Given the description of an element on the screen output the (x, y) to click on. 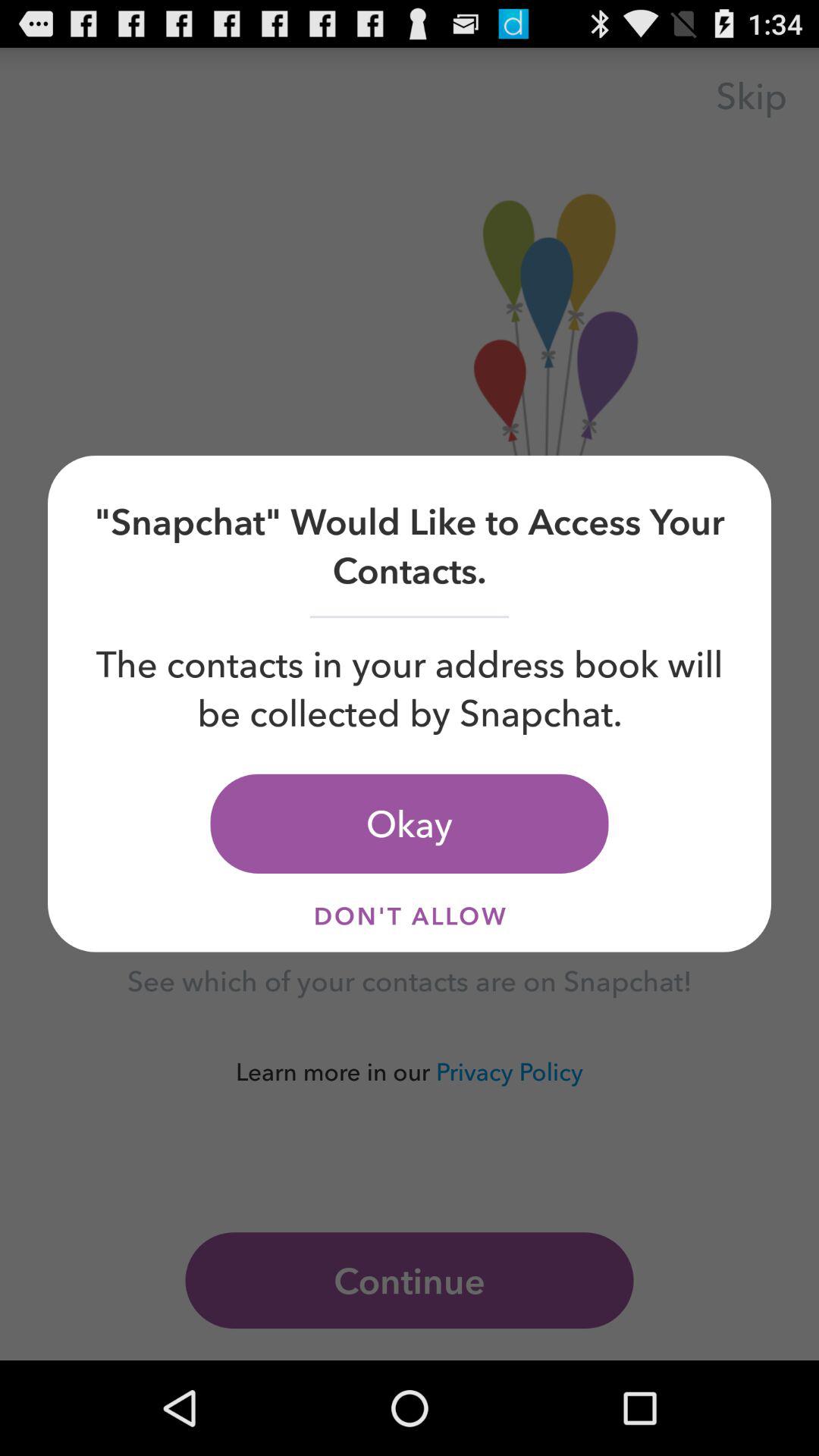
tap the icon below okay item (409, 915)
